Given the description of an element on the screen output the (x, y) to click on. 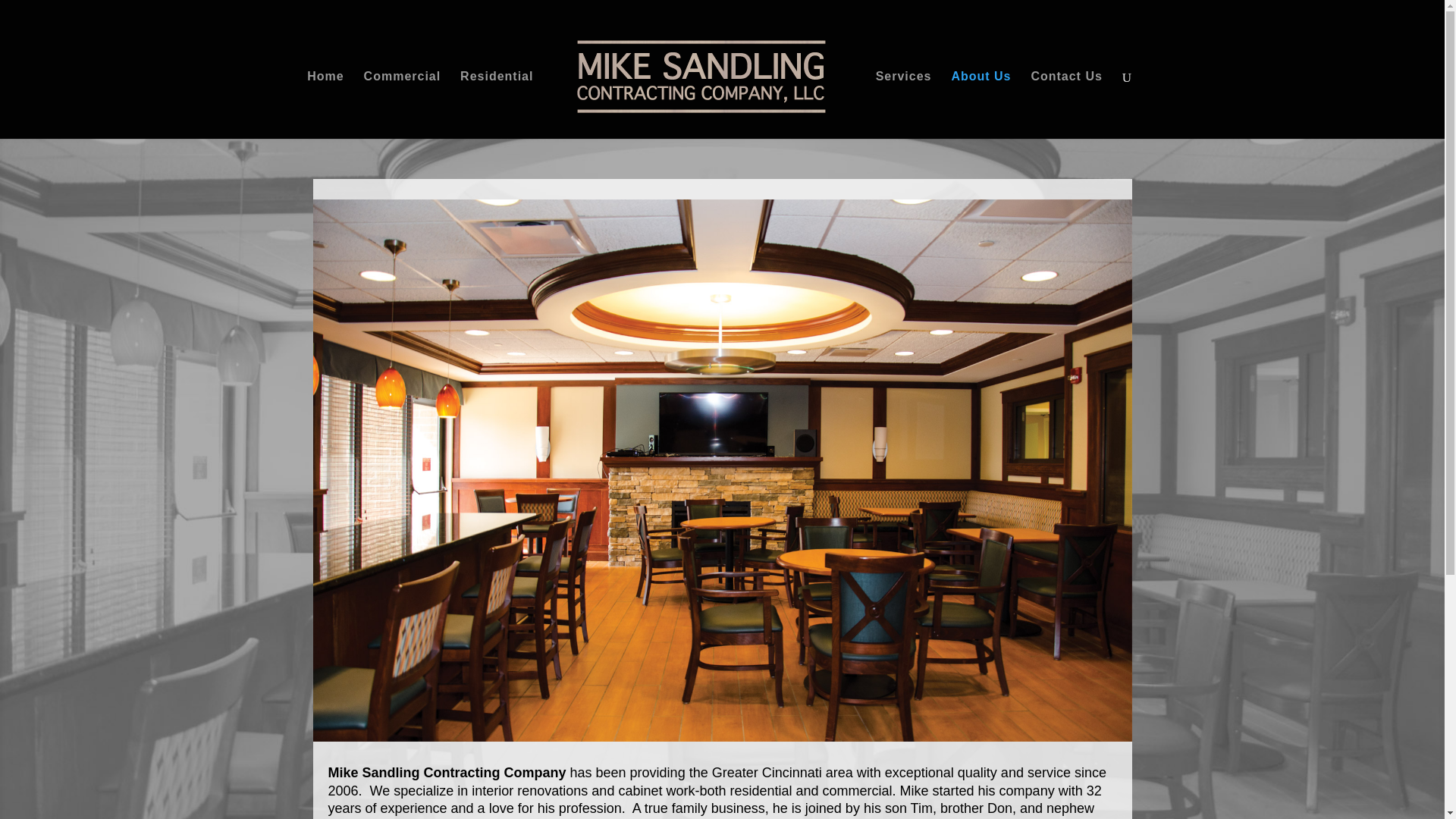
Commercial (402, 104)
Contact Us (1066, 104)
Residential (496, 104)
